Given the description of an element on the screen output the (x, y) to click on. 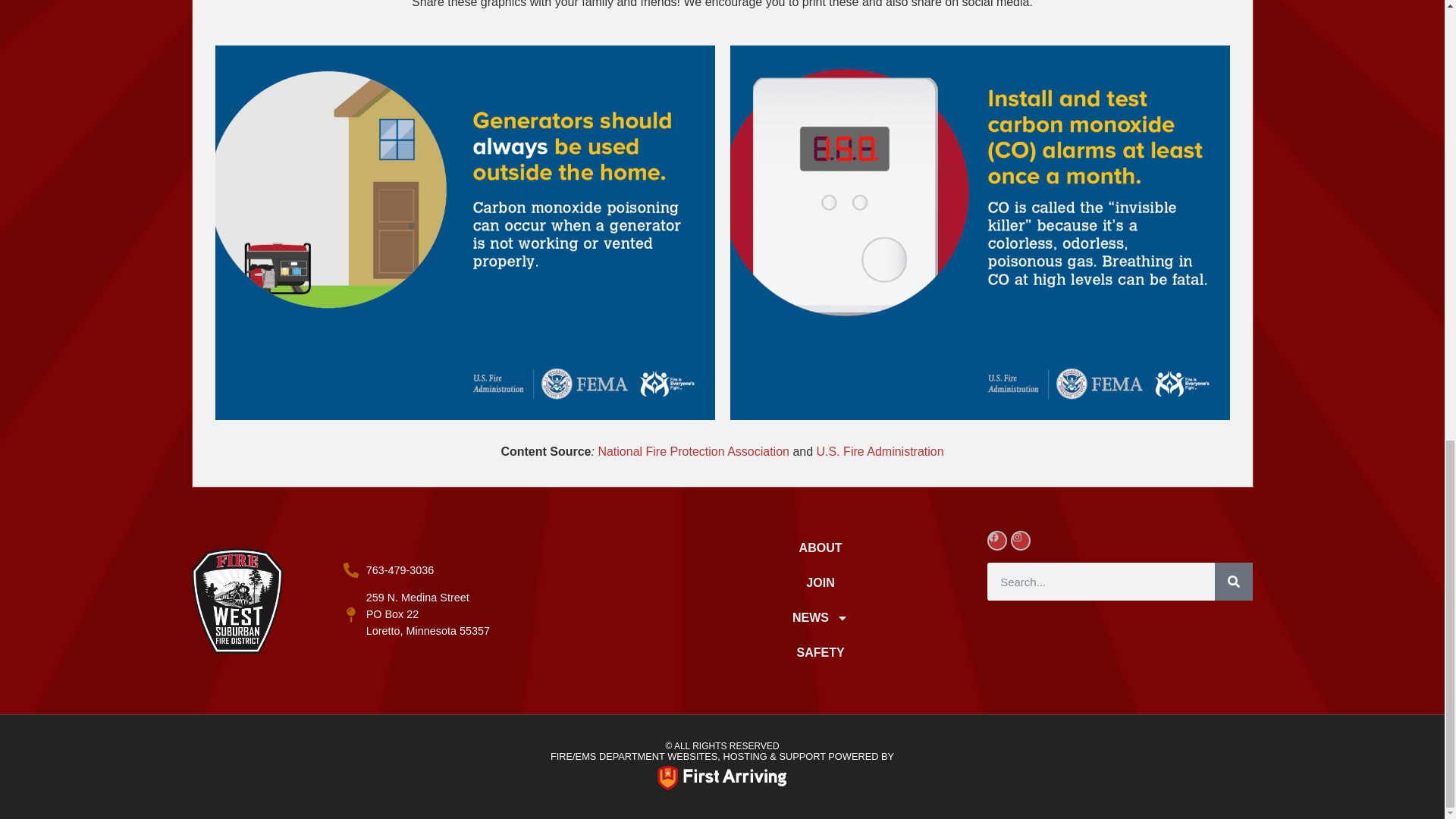
Ready-PNG.png (722, 777)
National Fire Protection Association  (694, 451)
JOIN (820, 582)
NEWS (498, 614)
ABOUT (820, 617)
763-479-3036 (820, 547)
U.S. Fire Administration (498, 570)
SAFETY (879, 451)
